Given the description of an element on the screen output the (x, y) to click on. 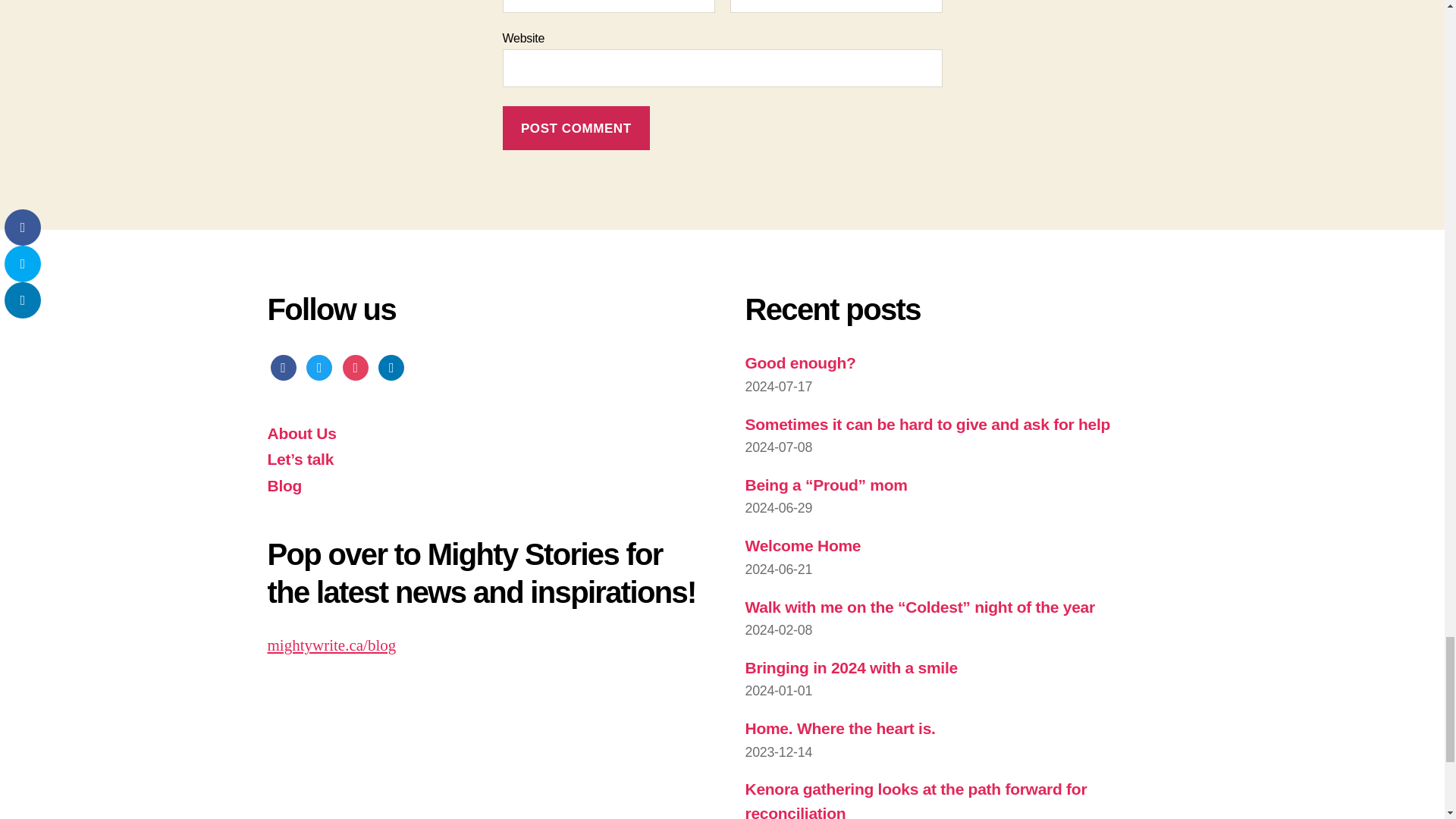
Post Comment (575, 128)
Twitter (318, 365)
Instagram (355, 365)
Default Label (391, 365)
Facebook (282, 365)
